Given the description of an element on the screen output the (x, y) to click on. 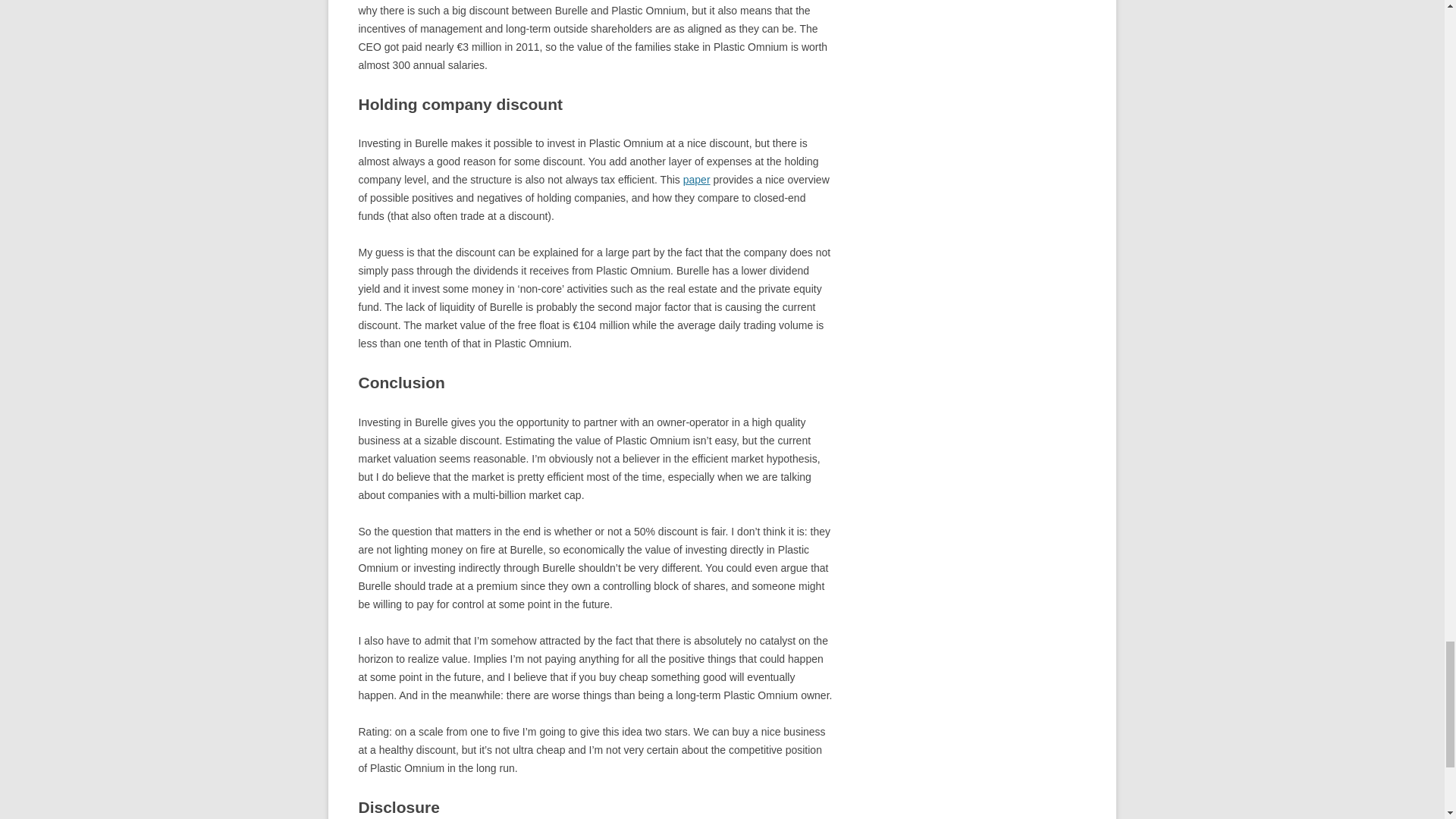
paper (696, 179)
